Given the description of an element on the screen output the (x, y) to click on. 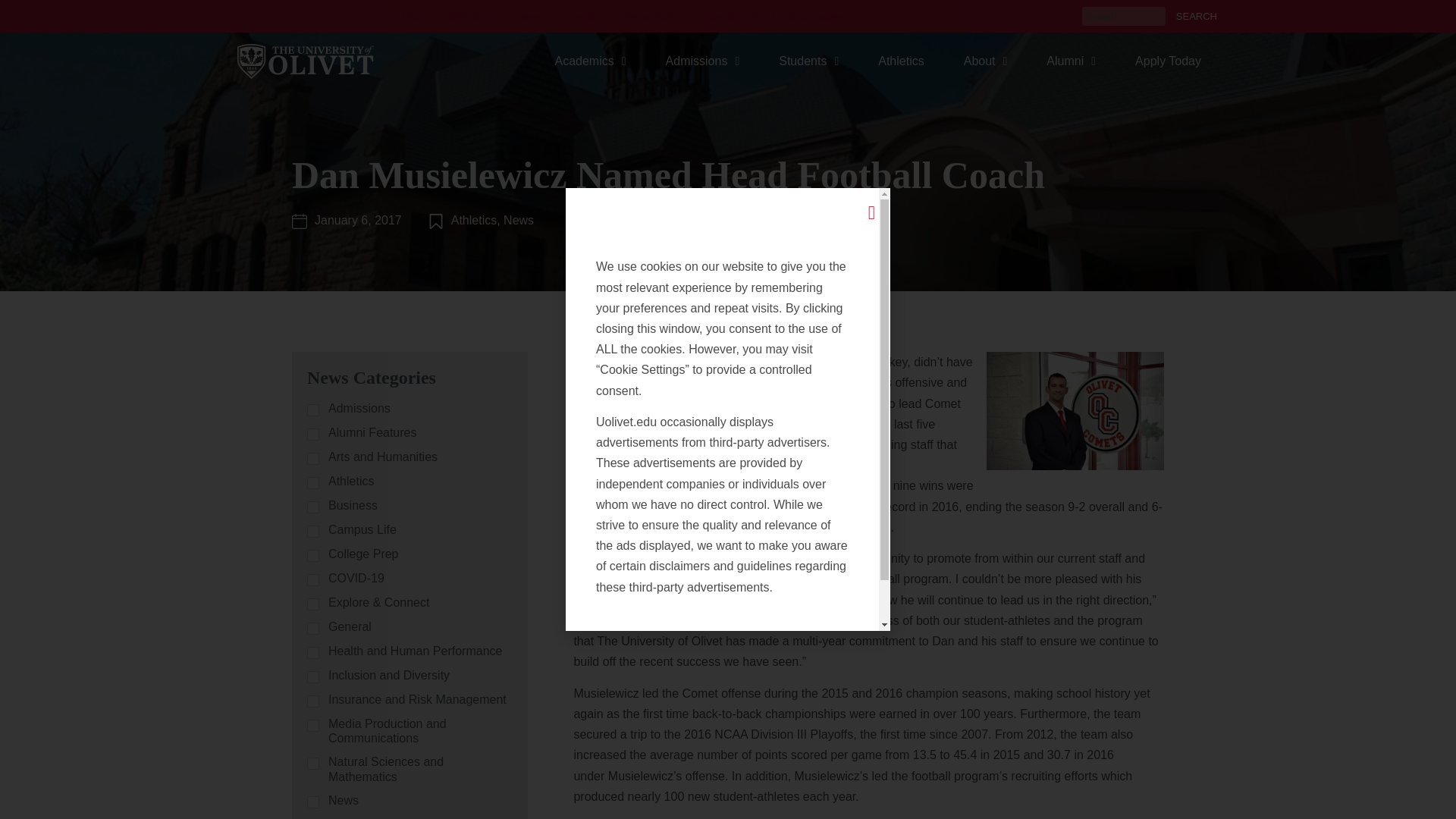
Admissions (703, 61)
46 (312, 701)
Search (1193, 15)
42 (312, 802)
Campus Map (391, 16)
192 (312, 725)
197 (312, 410)
55 (312, 507)
News (529, 16)
Students (808, 61)
Search (1193, 15)
159 (312, 434)
194 (312, 604)
44 (312, 482)
Directory (318, 16)
